Given the description of an element on the screen output the (x, y) to click on. 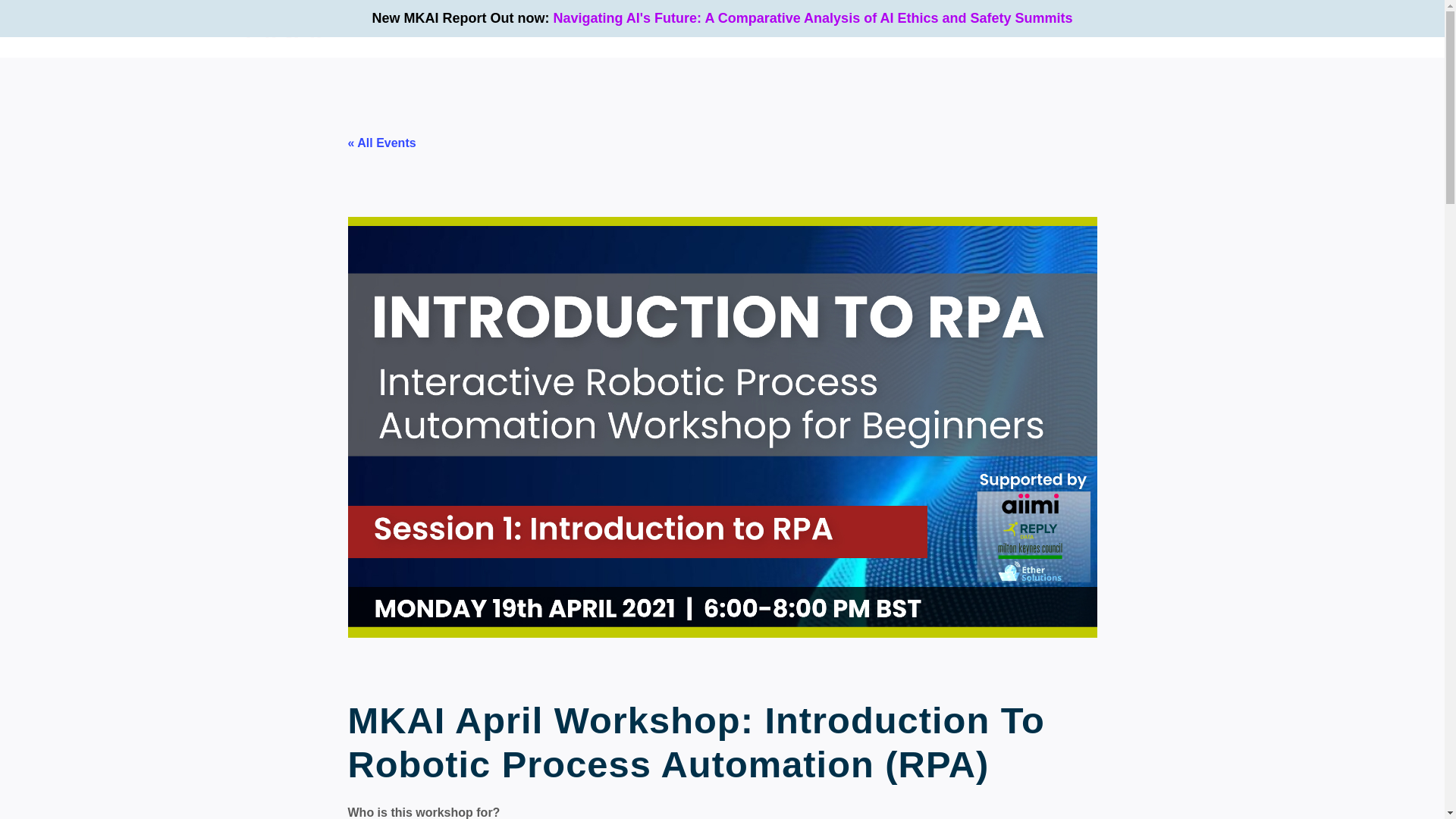
Our Events (889, 28)
Contact Us (1154, 28)
Resources (1070, 28)
About MKAI (976, 28)
Our Services (800, 28)
